Given the description of an element on the screen output the (x, y) to click on. 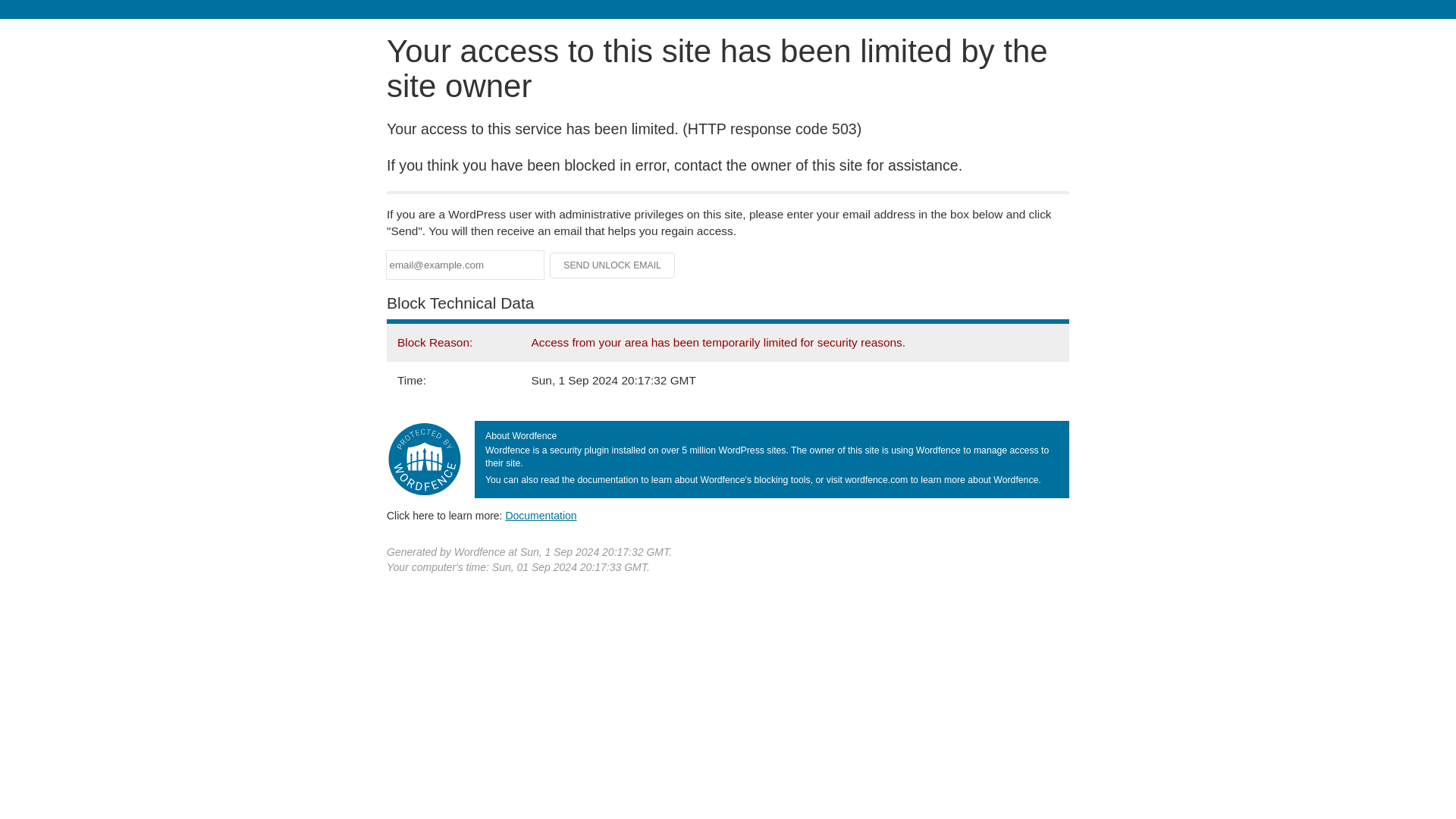
Send Unlock Email (612, 265)
Documentation (540, 515)
Send Unlock Email (612, 265)
